Given the description of an element on the screen output the (x, y) to click on. 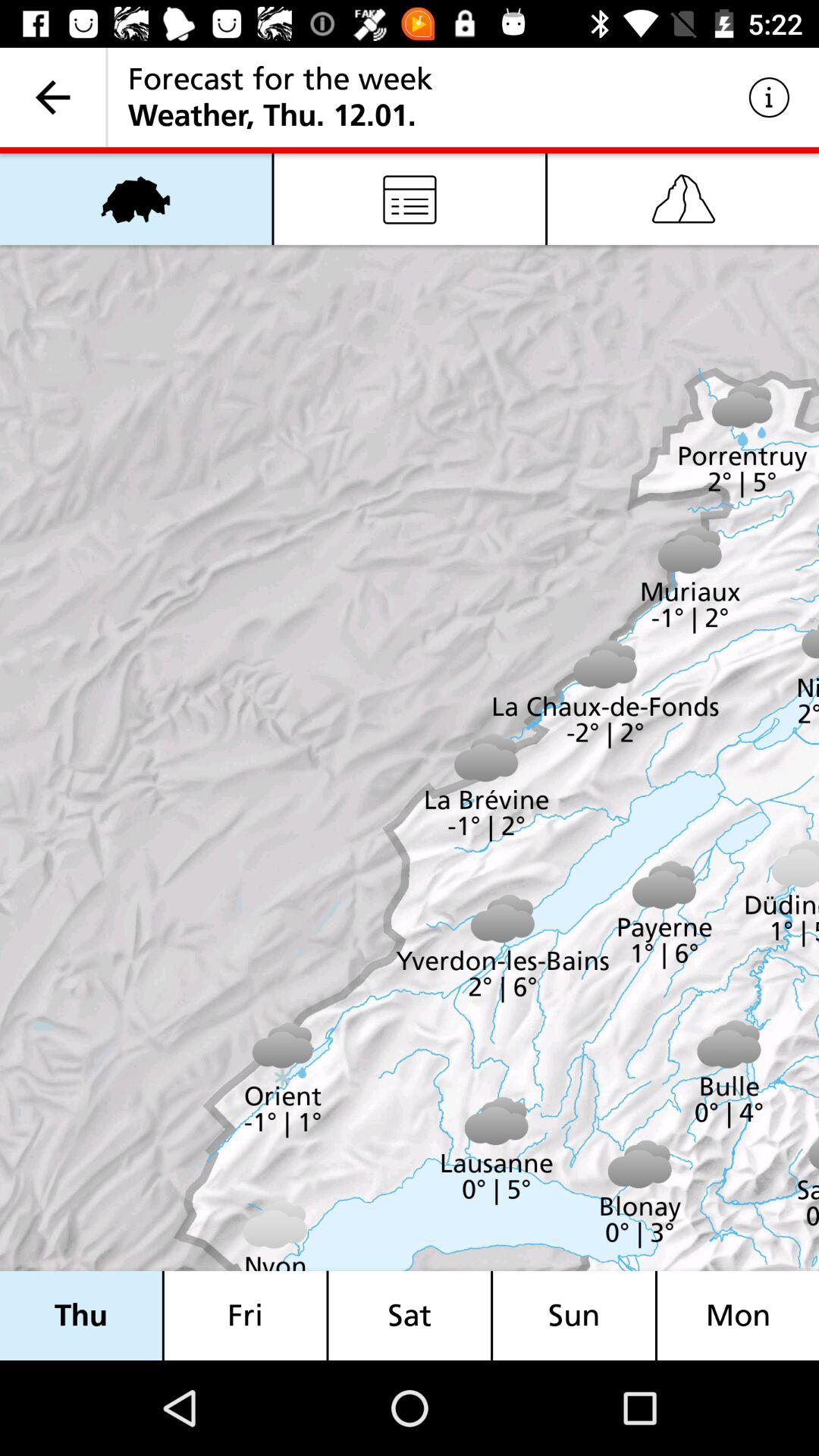
turn off icon above the fri item (409, 199)
